Given the description of an element on the screen output the (x, y) to click on. 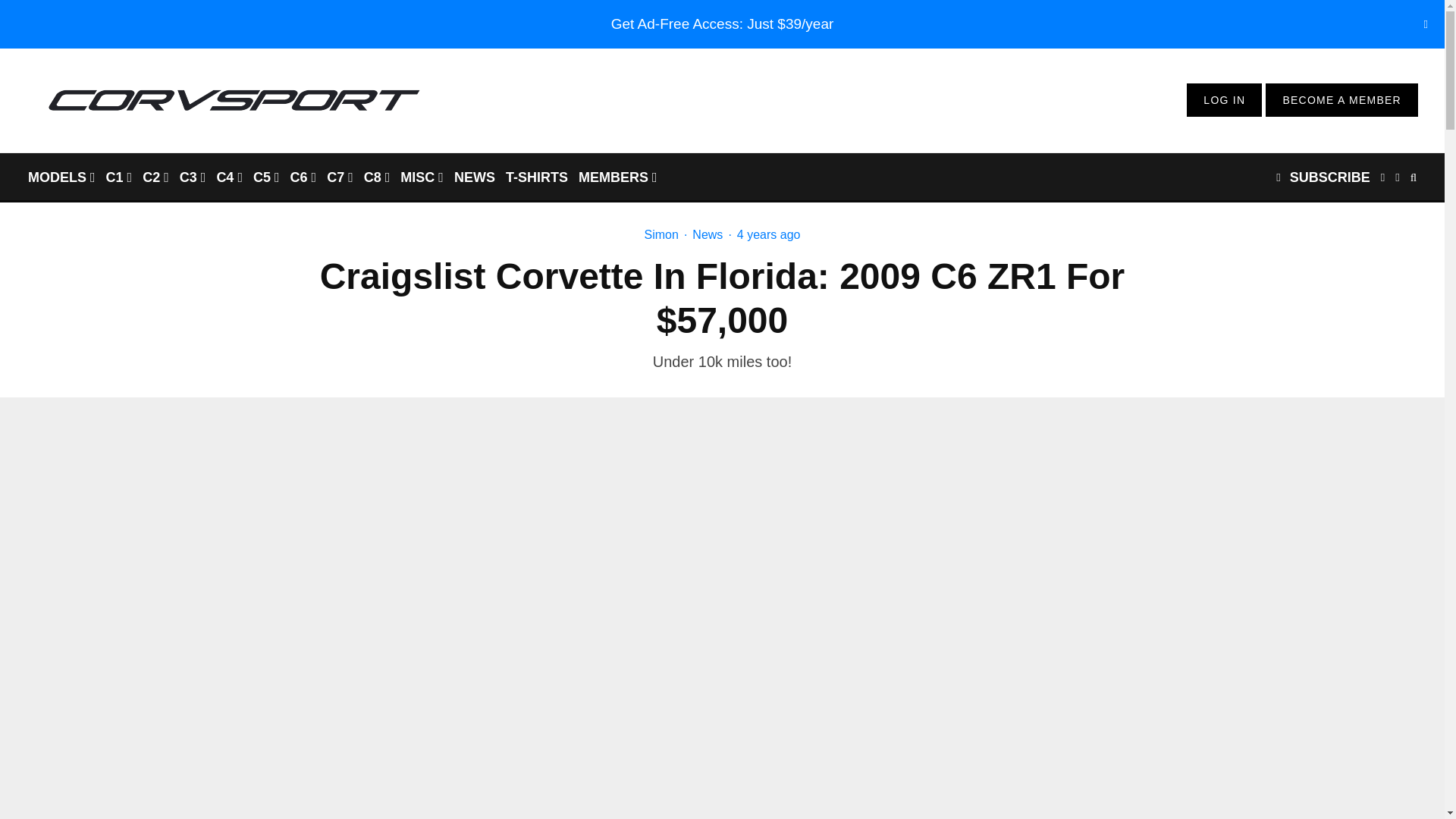
MODELS (61, 176)
BECOME A MEMBER (1341, 100)
LOG IN (1224, 100)
